Given the description of an element on the screen output the (x, y) to click on. 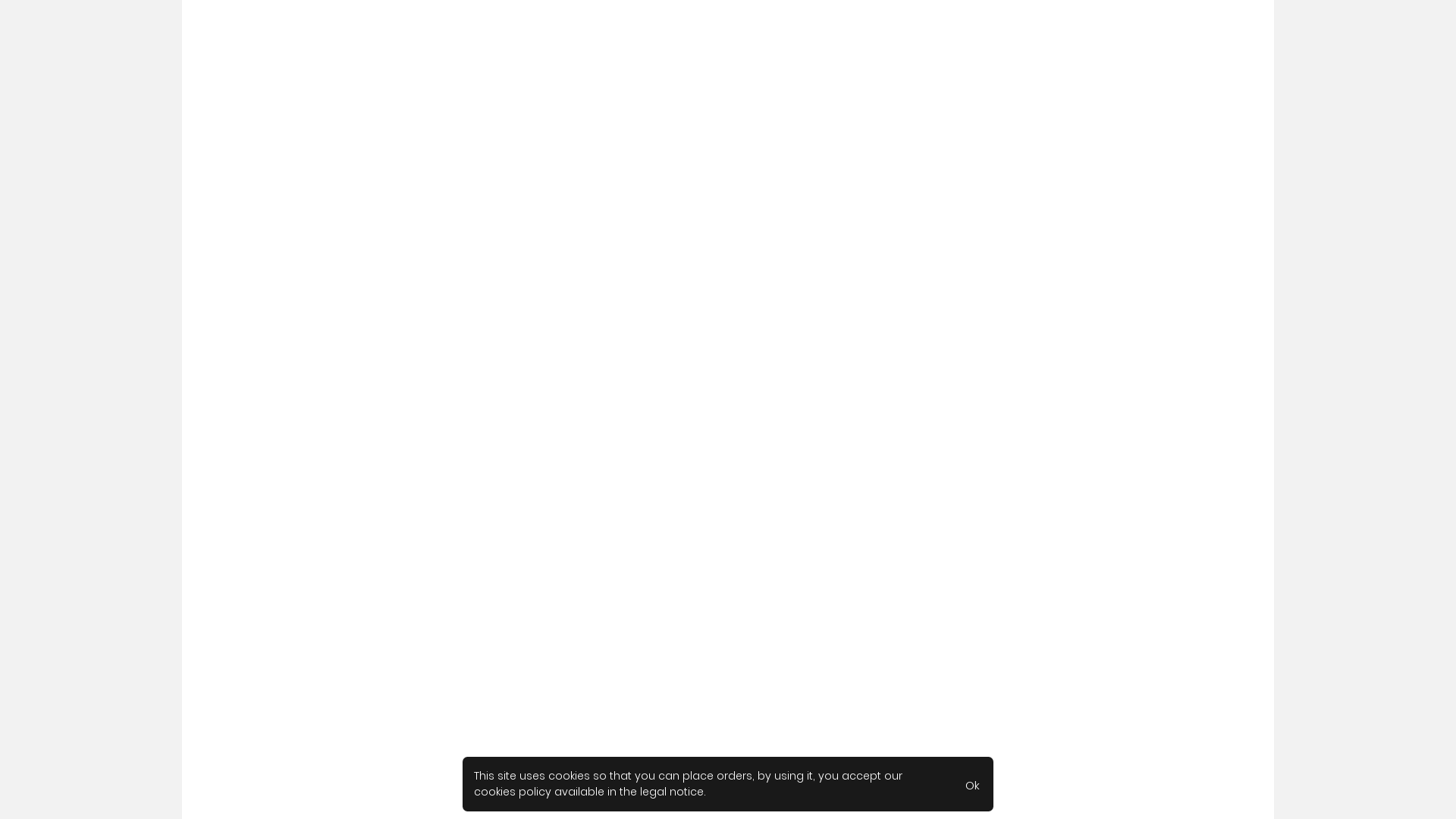
Ok Element type: text (972, 784)
